Given the description of an element on the screen output the (x, y) to click on. 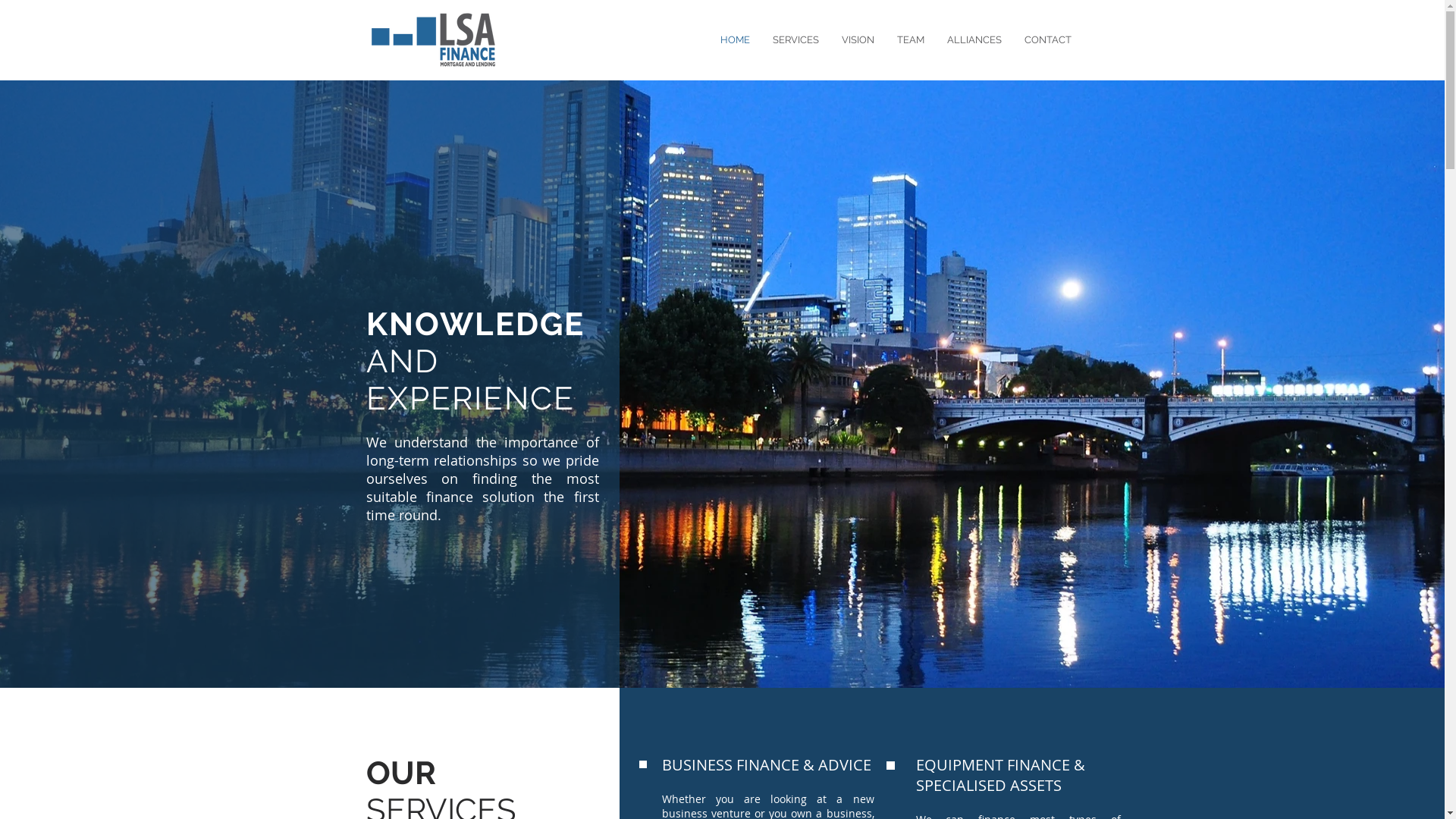
HOME Element type: text (734, 39)
CONTACT Element type: text (1047, 39)
ALLIANCES Element type: text (974, 39)
LSA Finance Master Logo-01.png Element type: hover (432, 39)
EQUIPMENT FINANCE & SPECIALISED ASSETS Element type: text (1000, 774)
BUSINESS FINANCE & ADVICE Element type: text (765, 764)
TEAM Element type: text (910, 39)
SERVICES Element type: text (795, 39)
VISION Element type: text (856, 39)
